Given the description of an element on the screen output the (x, y) to click on. 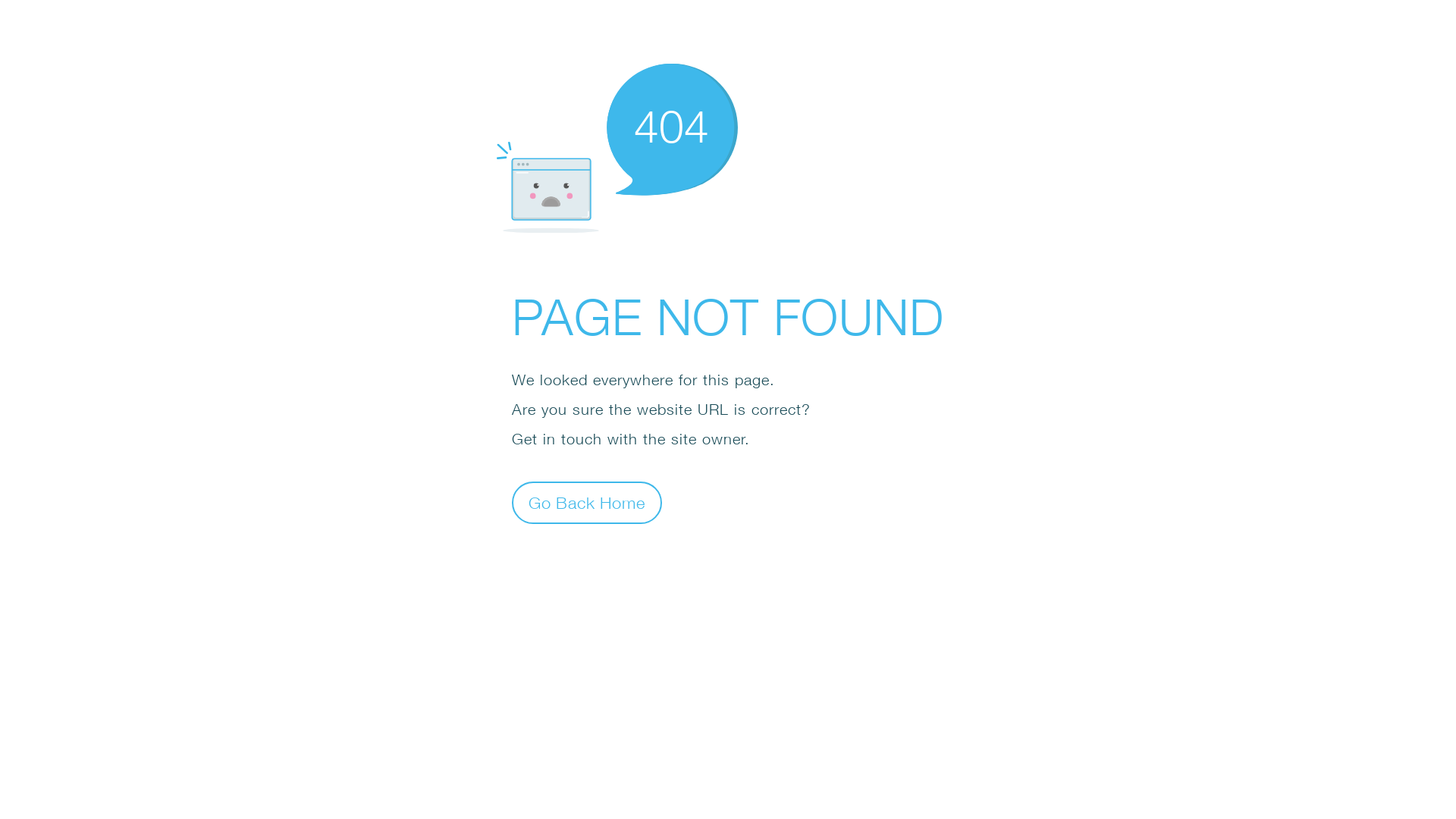
Go Back Home Element type: text (586, 502)
